Given the description of an element on the screen output the (x, y) to click on. 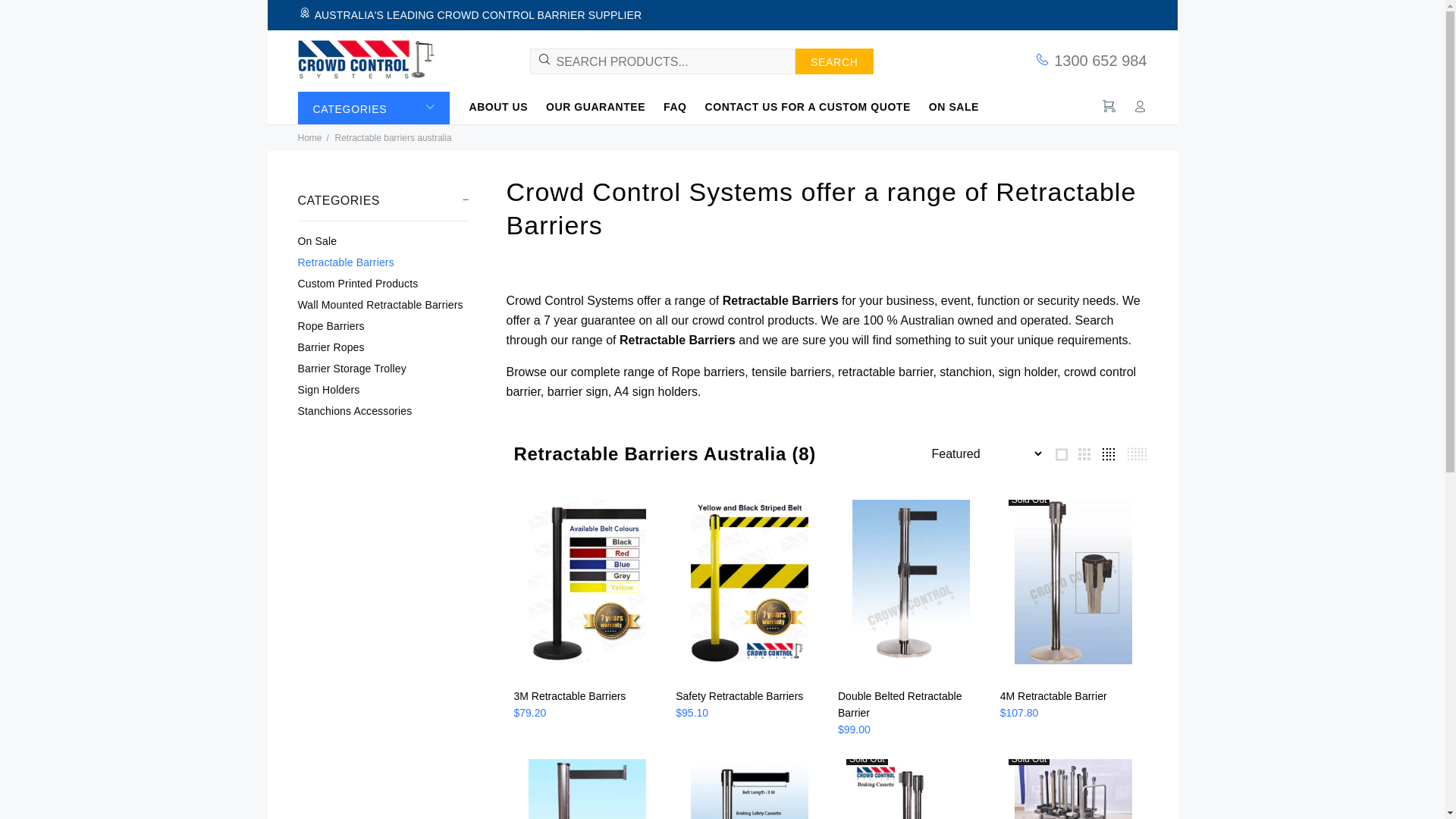
Barrier Storage Trolley Element type: text (382, 368)
ABOUT US Element type: text (502, 106)
On Sale Element type: text (382, 240)
CONTACT US FOR A CUSTOM QUOTE Element type: text (807, 106)
Retractable Barriers Element type: text (382, 262)
Custom Printed Products Element type: text (382, 283)
Sold Out Element type: text (1073, 587)
OUR GUARANTEE Element type: text (595, 106)
FAQ Element type: text (674, 106)
Barrier Ropes Element type: text (382, 346)
Rope Barriers Element type: text (382, 325)
4M Retractable Barrier Element type: text (1053, 696)
CATEGORIES Element type: text (372, 107)
Safety Retractable Barriers Element type: text (739, 696)
Wall Mounted Retractable Barriers Element type: text (382, 304)
Double Belted Retractable Barrier Element type: text (899, 704)
Stanchions Accessories Element type: text (382, 408)
SEARCH Element type: text (834, 61)
Home Element type: text (309, 137)
ON SALE Element type: text (949, 106)
3M Retractable Barriers Element type: text (570, 696)
Sign Holders Element type: text (382, 389)
